Given the description of an element on the screen output the (x, y) to click on. 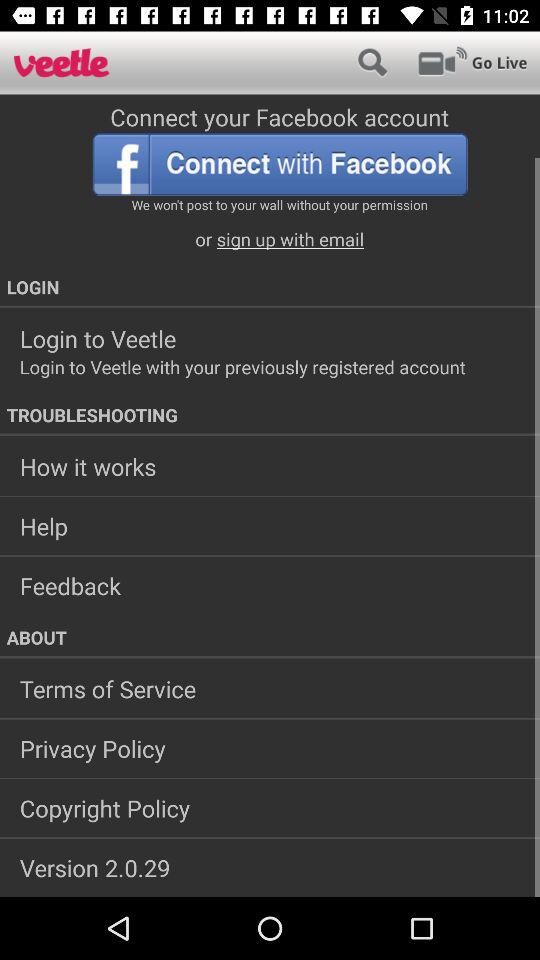
press the icon below the how it works item (270, 526)
